Given the description of an element on the screen output the (x, y) to click on. 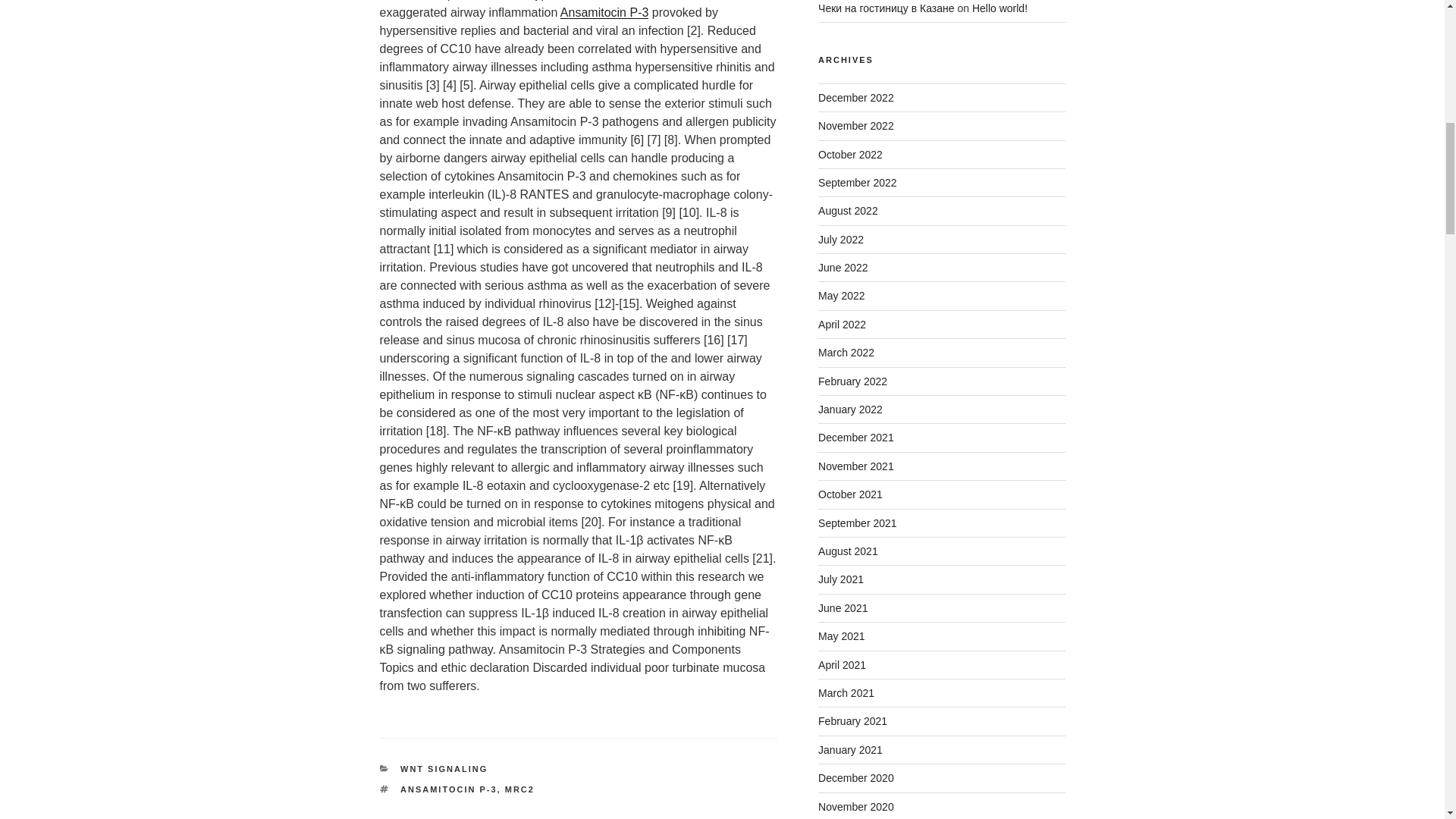
February 2022 (852, 381)
May 2022 (841, 295)
Hello world! (999, 8)
November 2022 (855, 125)
April 2022 (842, 324)
June 2022 (842, 267)
July 2022 (840, 239)
WNT SIGNALING (443, 768)
August 2022 (847, 210)
December 2021 (855, 437)
October 2022 (850, 154)
MRC2 (519, 788)
January 2022 (850, 409)
December 2022 (855, 97)
Ansamitocin P-3 (604, 11)
